Given the description of an element on the screen output the (x, y) to click on. 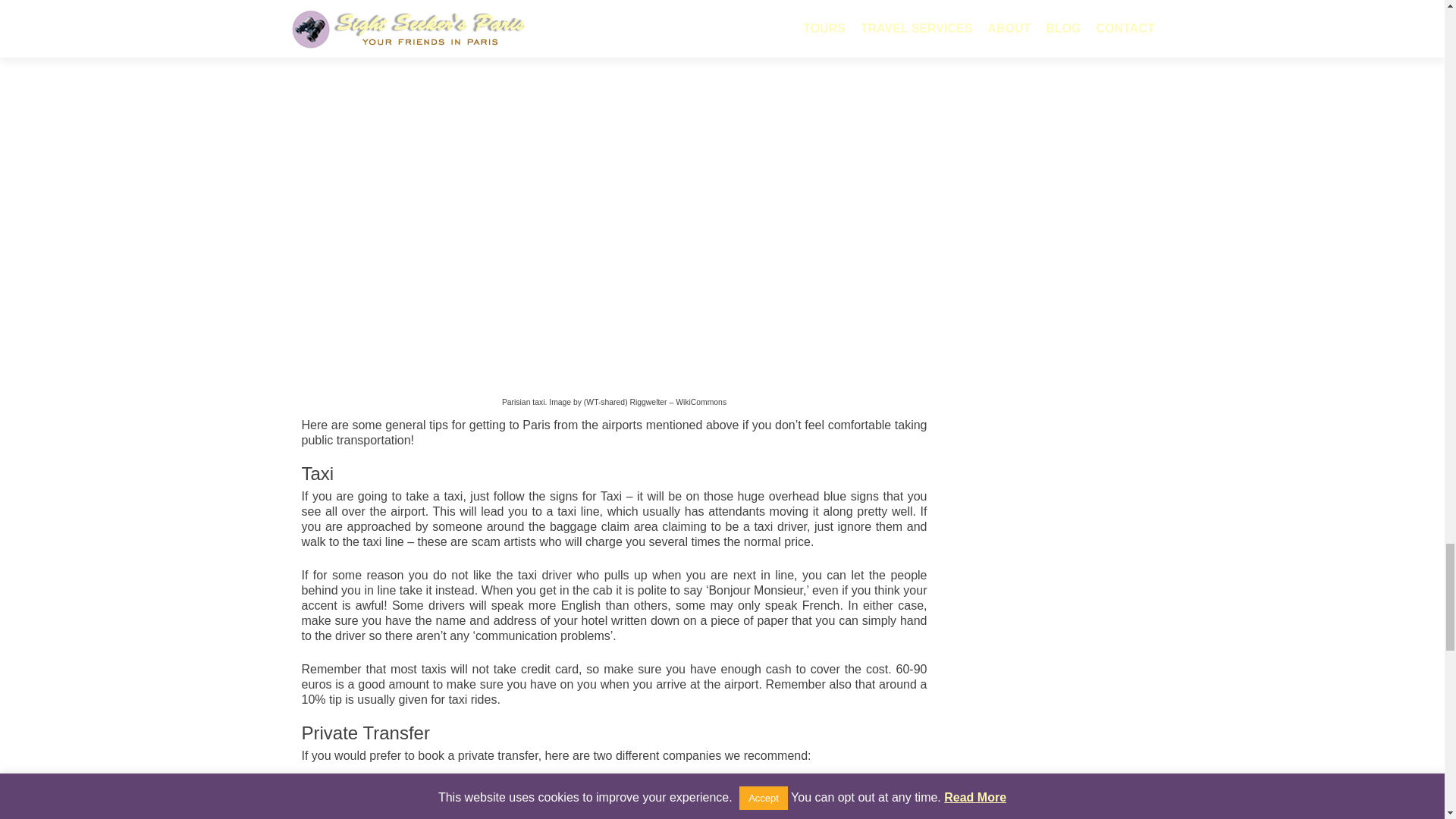
Prestige Private Transfer (404, 788)
Paris Private Car Service (405, 803)
